Given the description of an element on the screen output the (x, y) to click on. 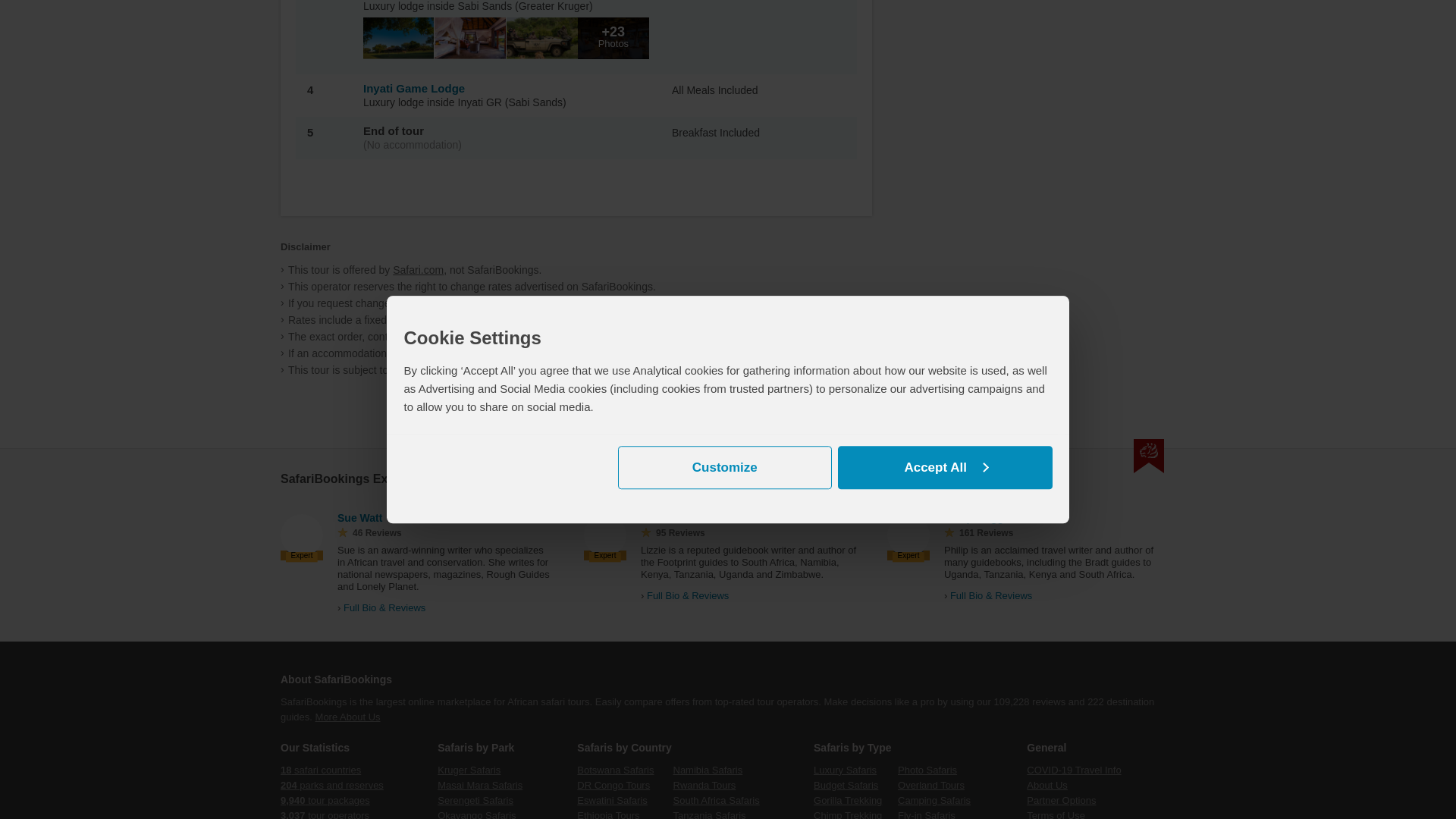
United Kingdom (394, 516)
South Africa (727, 516)
South Africa (1021, 516)
